Given the description of an element on the screen output the (x, y) to click on. 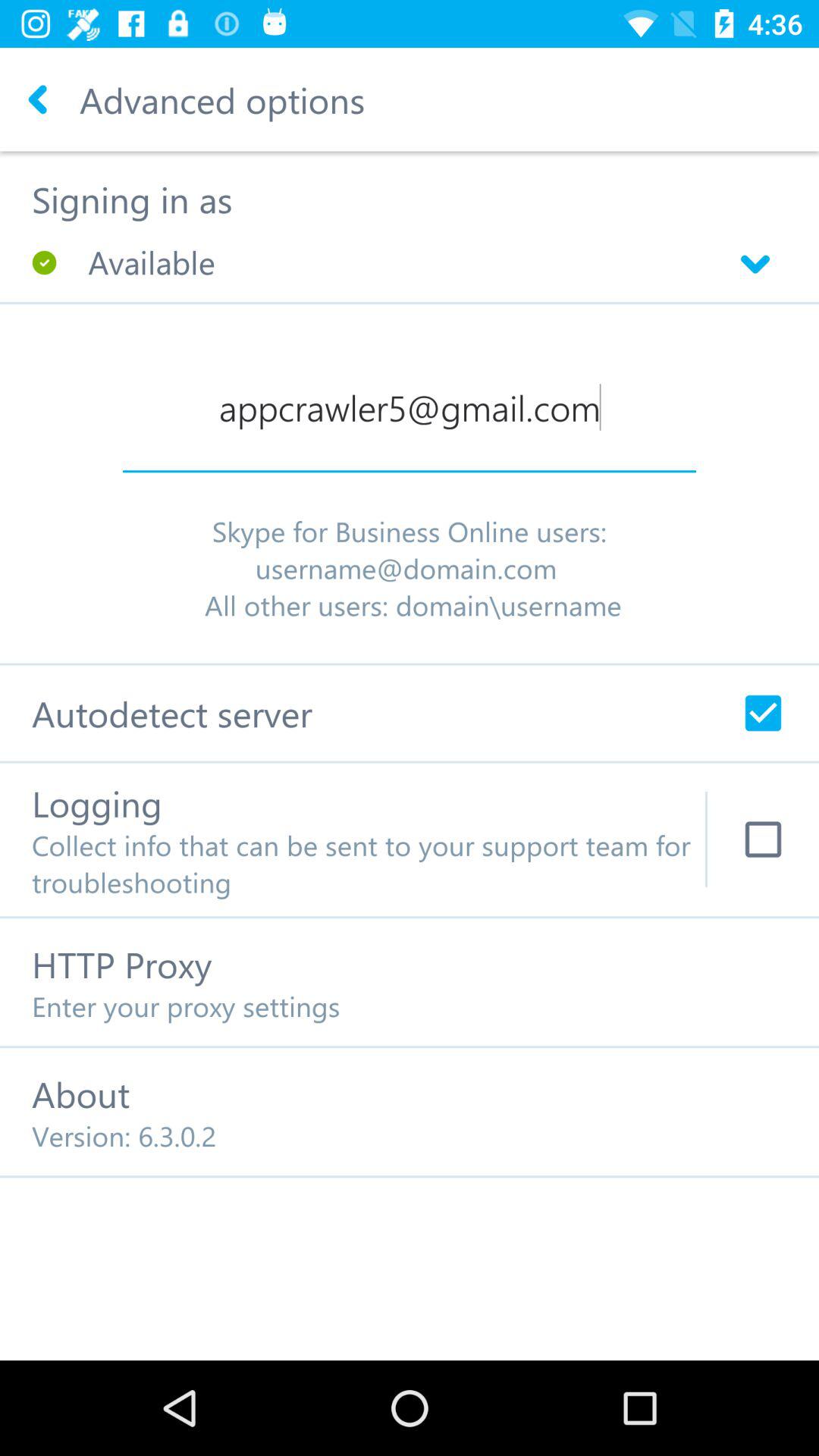
check mark logging (763, 839)
